Given the description of an element on the screen output the (x, y) to click on. 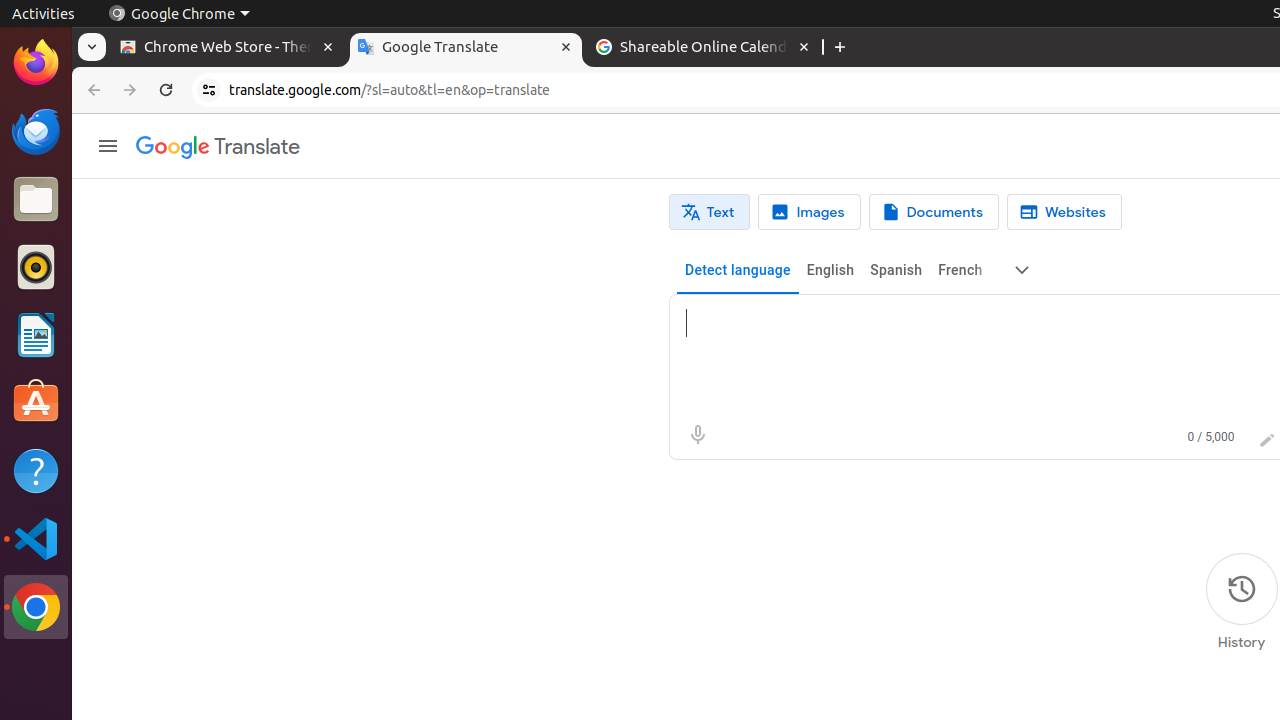
Google Chrome Element type: menu (179, 13)
Detect language Element type: page-tab (737, 270)
Back Element type: push-button (91, 90)
French Element type: page-tab (960, 270)
LibreOffice Writer Element type: push-button (36, 334)
